Given the description of an element on the screen output the (x, y) to click on. 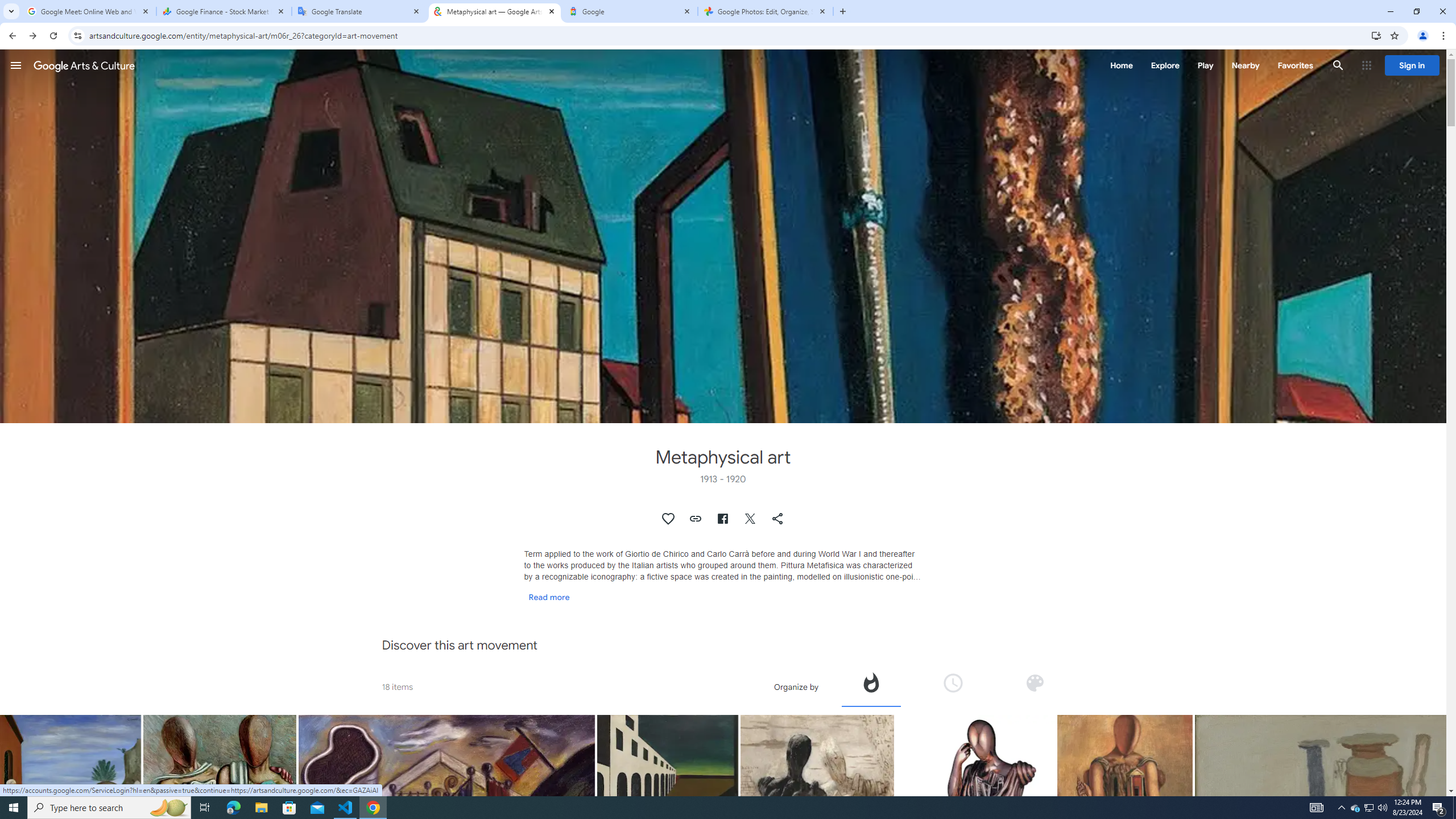
Search (1338, 65)
Read more (549, 596)
Organize by color (1034, 686)
Sign in (1411, 64)
Share on Twitter (750, 518)
Bookmark this tab (1393, 35)
The solitary archaeologist (1124, 759)
Close (821, 11)
System (6, 6)
Play (1205, 65)
Organize by time (952, 686)
Restore (1416, 11)
